Given the description of an element on the screen output the (x, y) to click on. 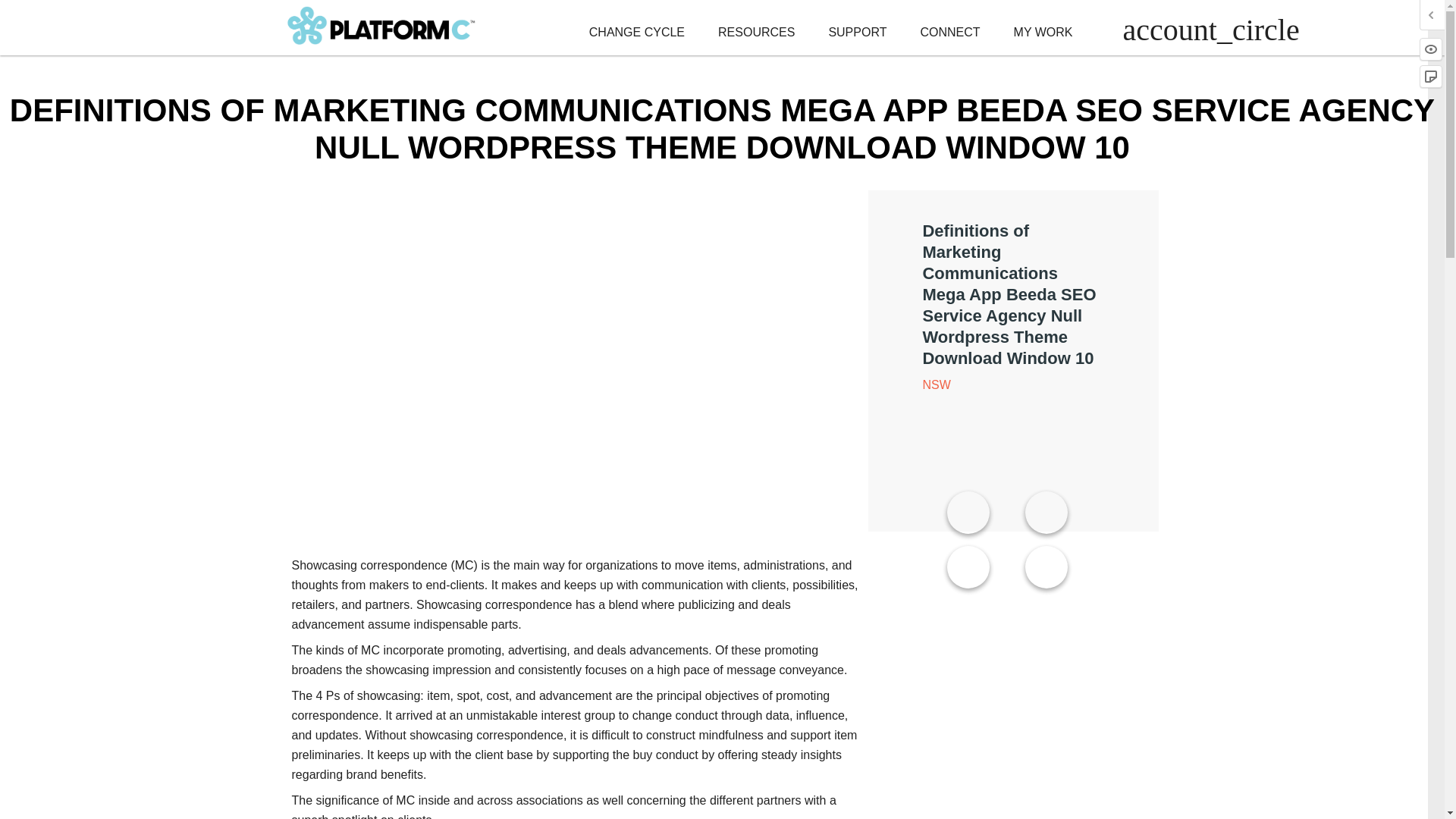
CHANGE CYCLE (636, 31)
